Given the description of an element on the screen output the (x, y) to click on. 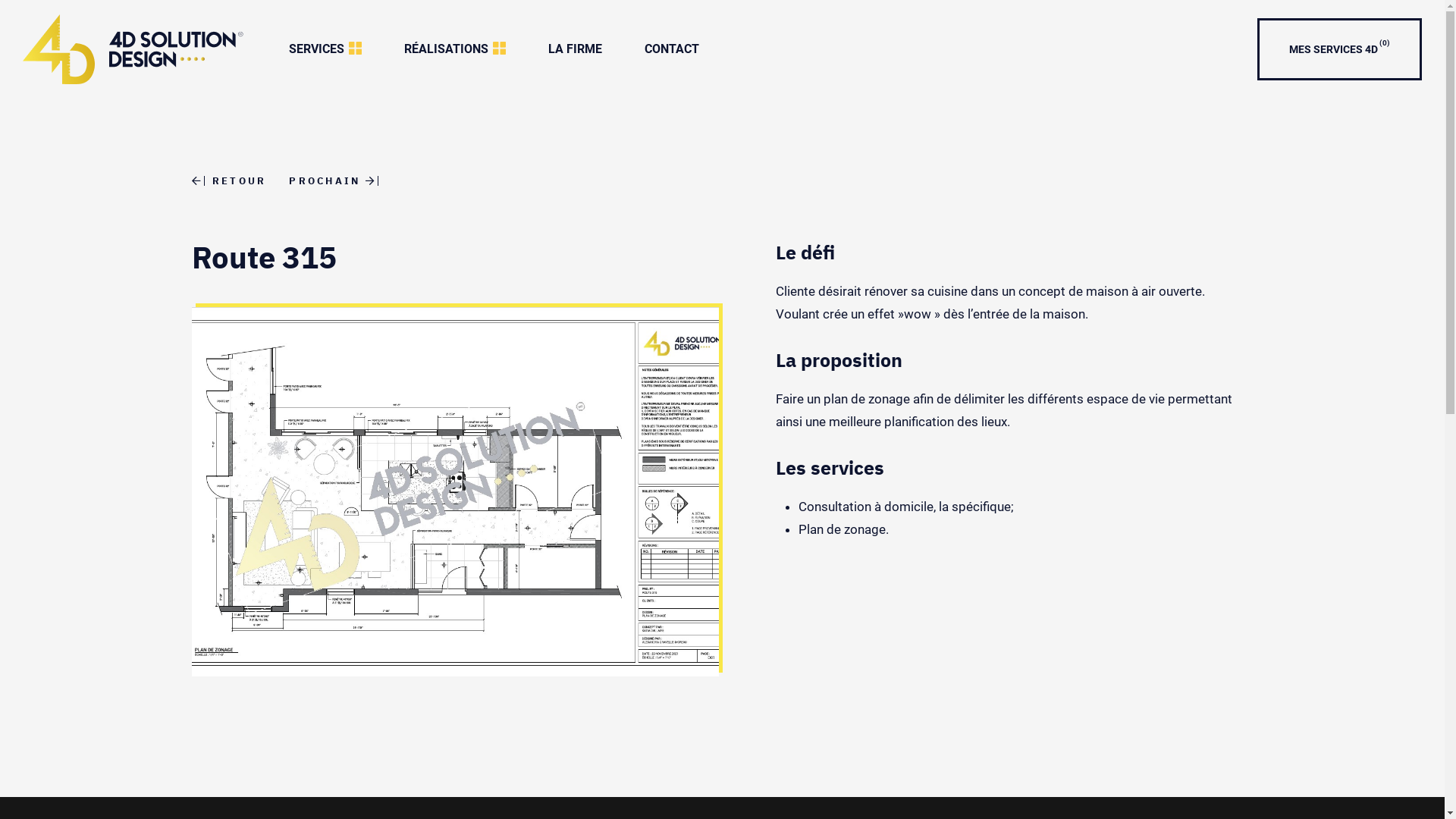
MES SERVICES 4D(0) Element type: text (1339, 49)
CONTACT Element type: text (671, 48)
LA FIRME Element type: text (575, 48)
SERVICES Element type: text (324, 48)
PROCHAIN Element type: text (336, 180)
RETOUR Element type: text (228, 180)
